Given the description of an element on the screen output the (x, y) to click on. 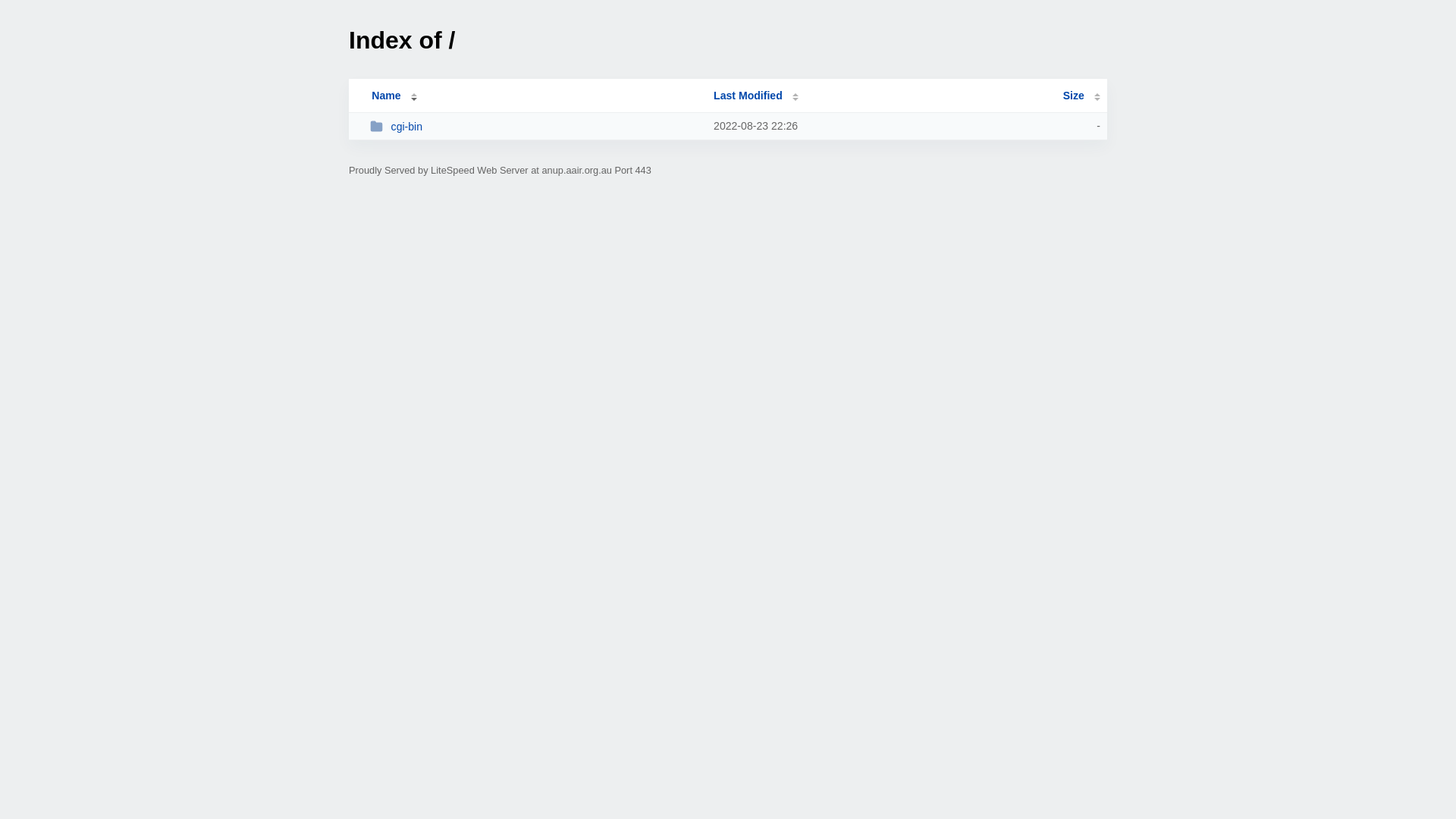
Size Element type: text (1081, 95)
cgi-bin Element type: text (534, 125)
Name Element type: text (385, 95)
Last Modified Element type: text (755, 95)
